Given the description of an element on the screen output the (x, y) to click on. 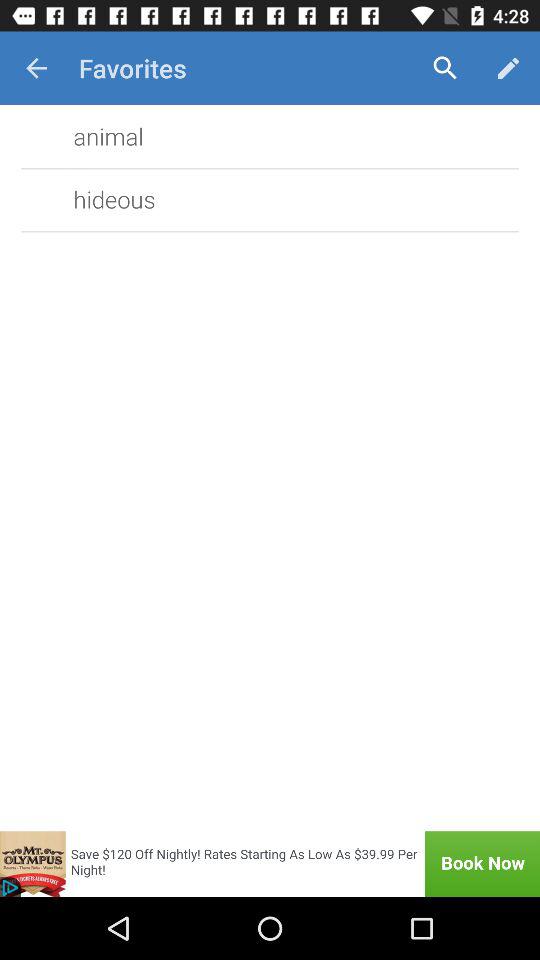
launch icon above the animal item (36, 68)
